Given the description of an element on the screen output the (x, y) to click on. 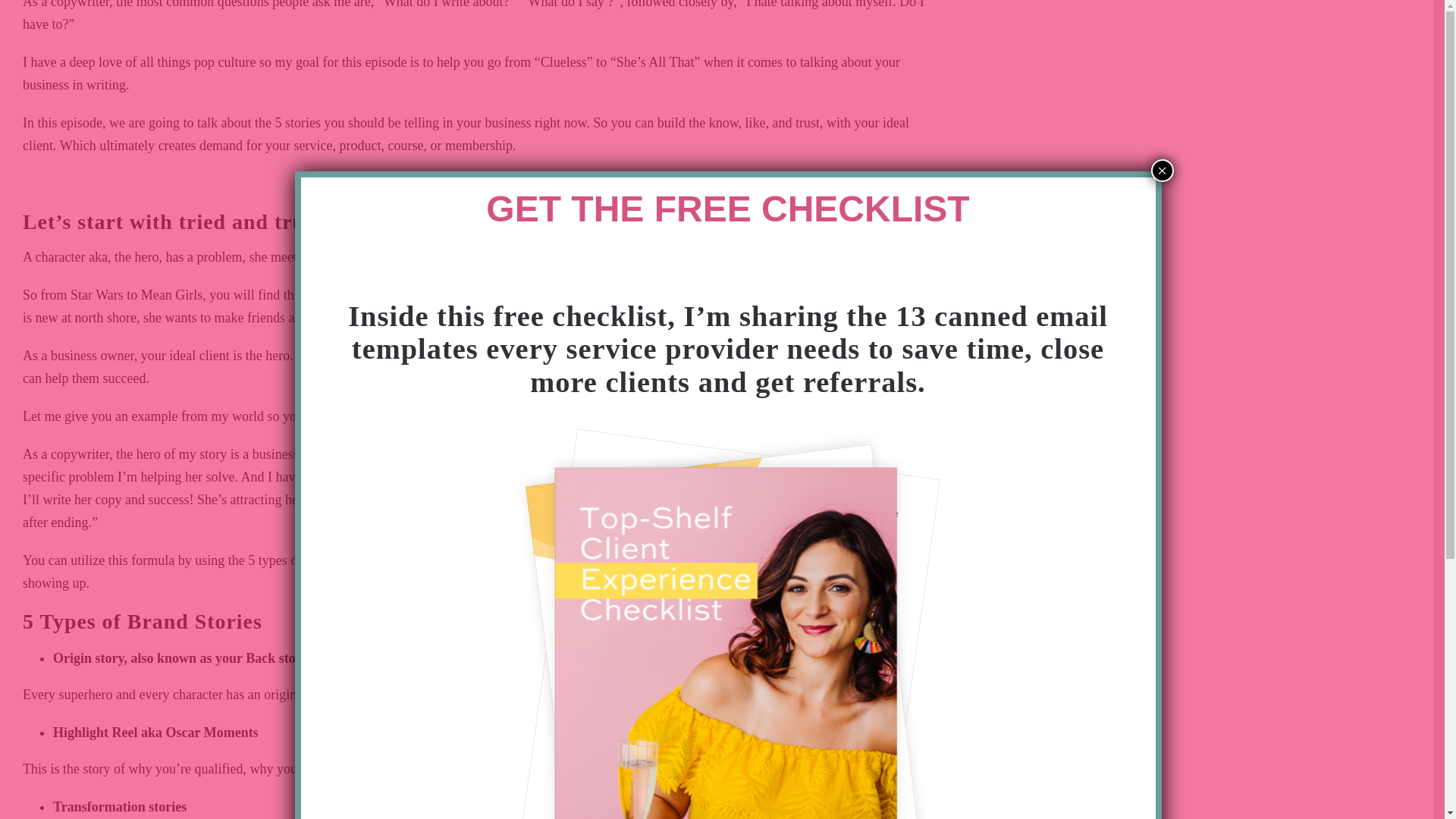
SHOP NOW (727, 246)
